Given the description of an element on the screen output the (x, y) to click on. 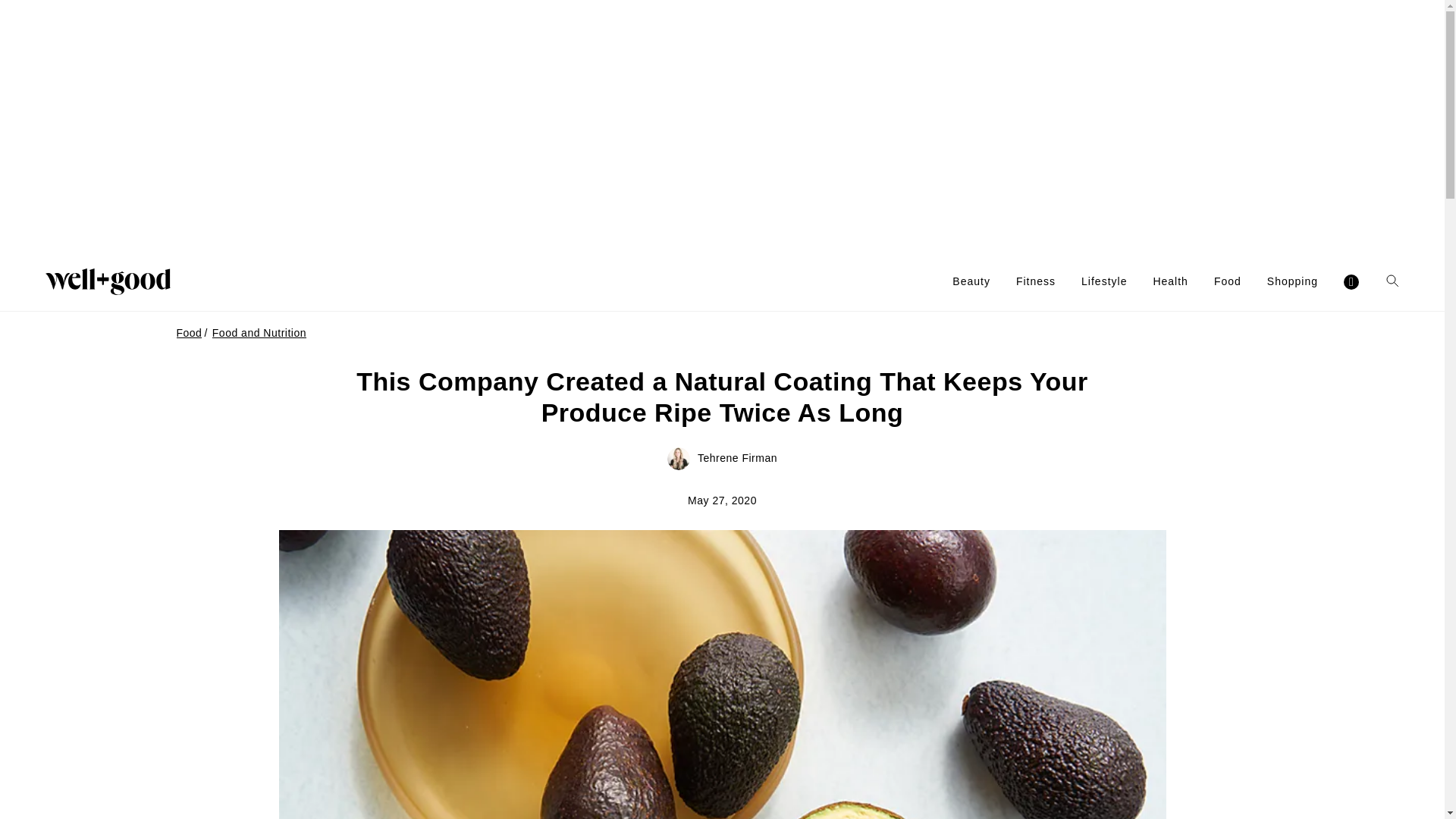
Health (1170, 281)
Shopping (1291, 281)
Fitness (1035, 281)
Food (1227, 281)
Beauty (971, 281)
Lifestyle (1103, 281)
